Given the description of an element on the screen output the (x, y) to click on. 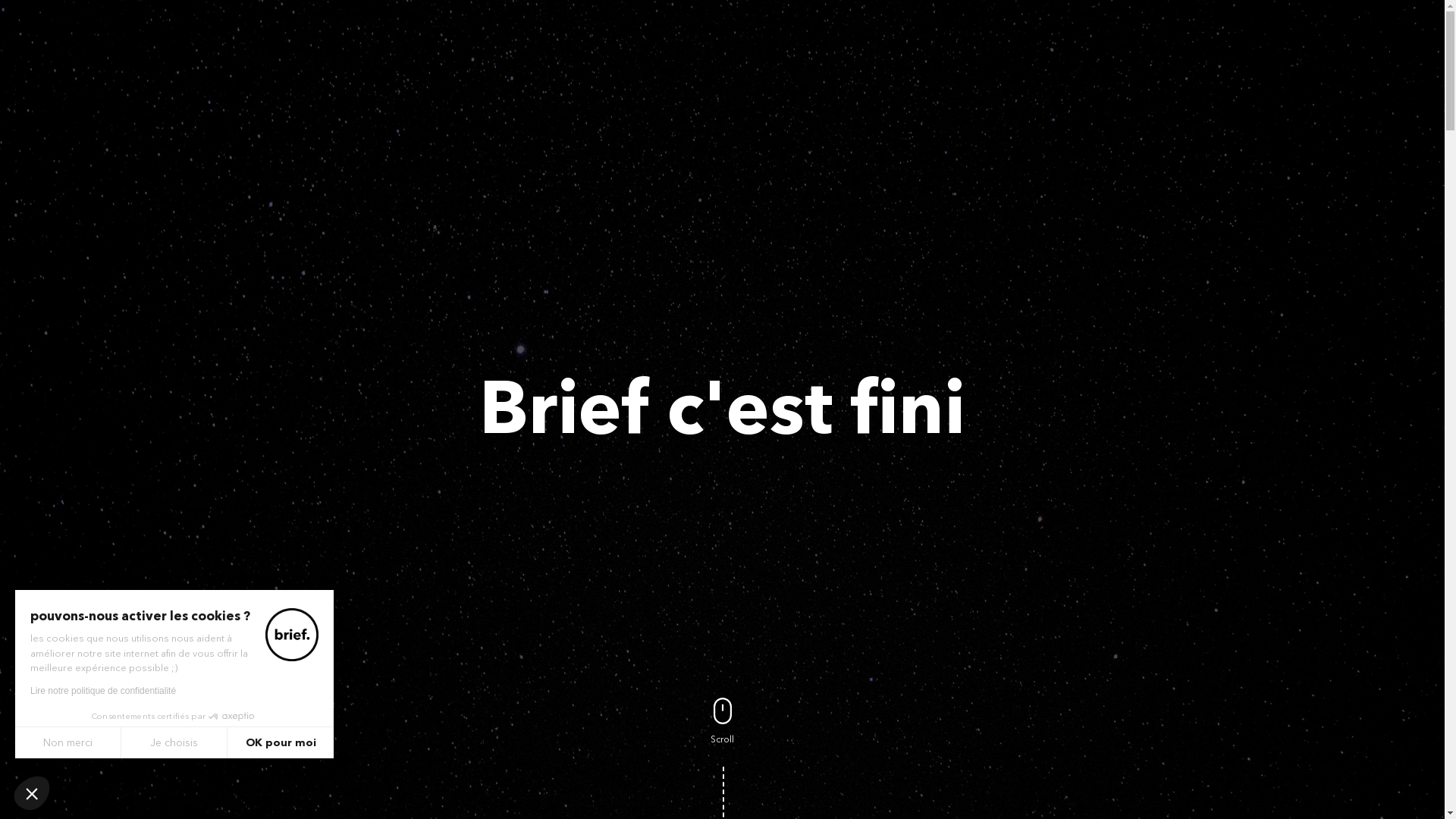
Je choisis Element type: text (174, 742)
Fermer le widget sans consentement Element type: hover (31, 793)
OK pour moi Element type: text (280, 742)
Non merci Element type: text (68, 742)
